Given the description of an element on the screen output the (x, y) to click on. 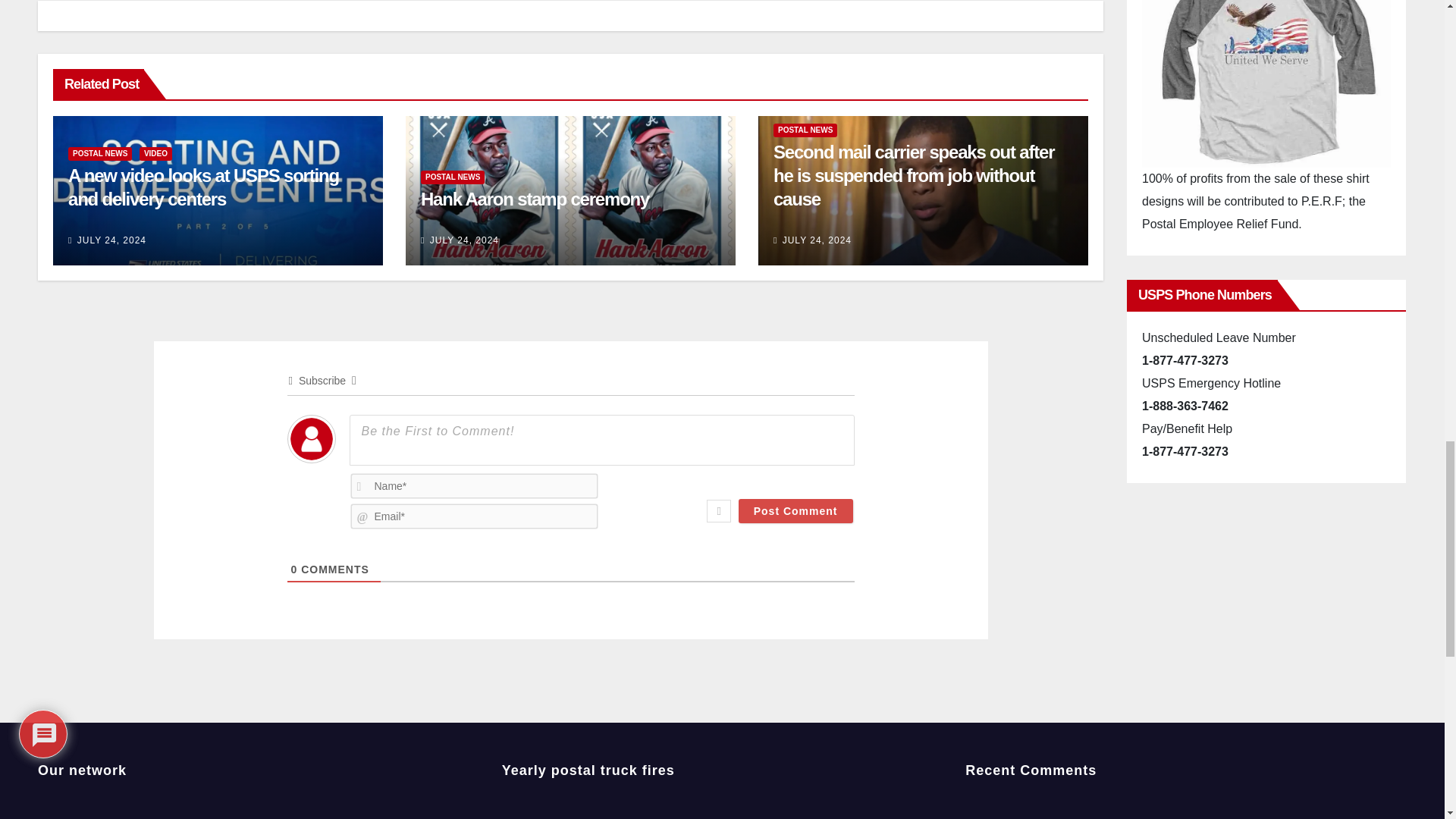
POSTAL NEWS (100, 153)
JULY 24, 2024 (112, 240)
VIDEO (155, 153)
POSTAL NEWS (452, 177)
A new video looks at USPS sorting and delivery centers (203, 187)
Post Comment (795, 510)
